Given the description of an element on the screen output the (x, y) to click on. 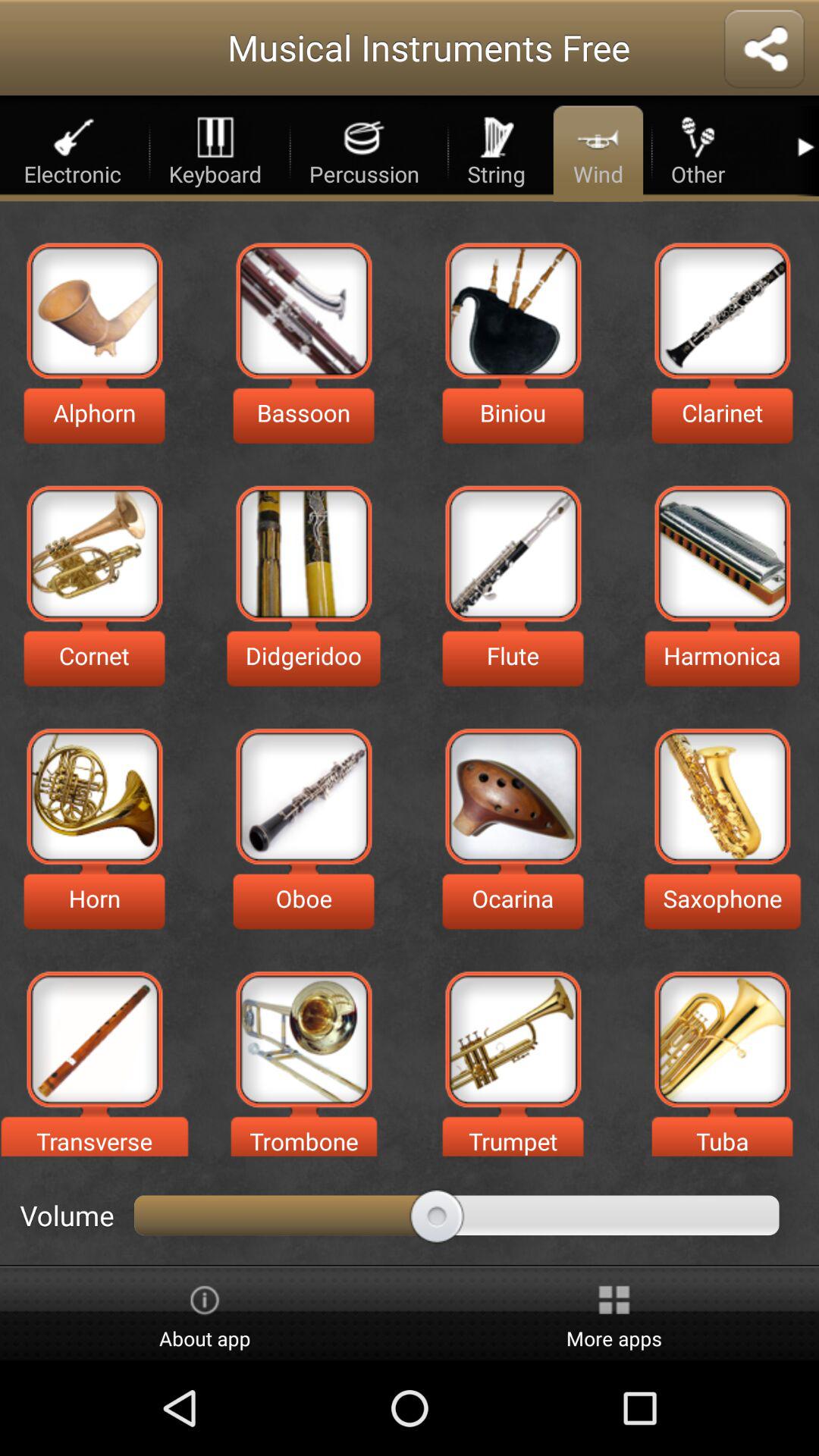
select harmonica (722, 553)
